Given the description of an element on the screen output the (x, y) to click on. 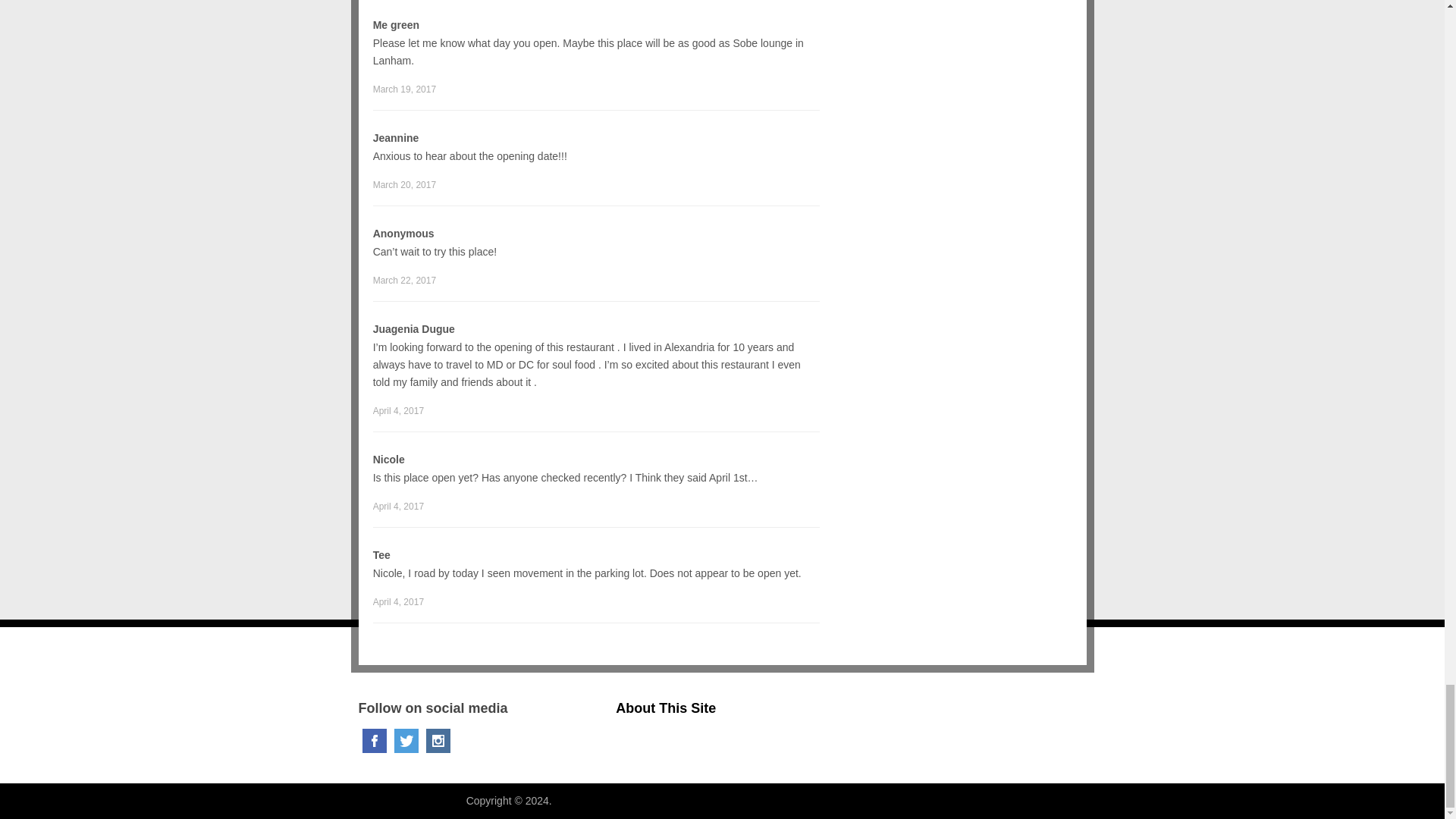
Instagram (437, 740)
Twitter (406, 740)
Facebook (374, 740)
About This Site (665, 708)
Facebook (374, 740)
Instagram (437, 740)
Twitter (406, 740)
Covering The Corridor (410, 800)
